Given the description of an element on the screen output the (x, y) to click on. 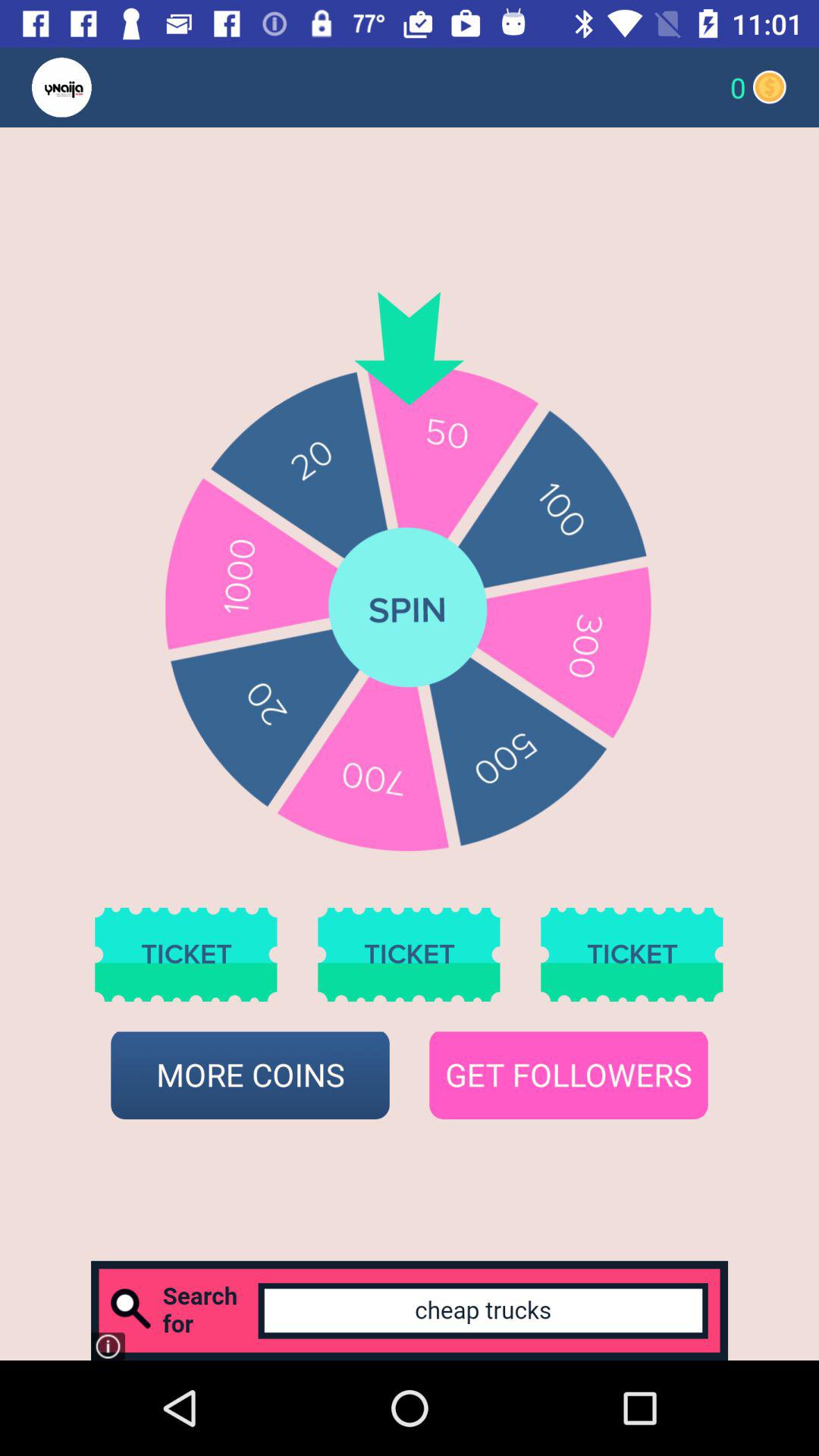
scroll until get followers (568, 1075)
